Given the description of an element on the screen output the (x, y) to click on. 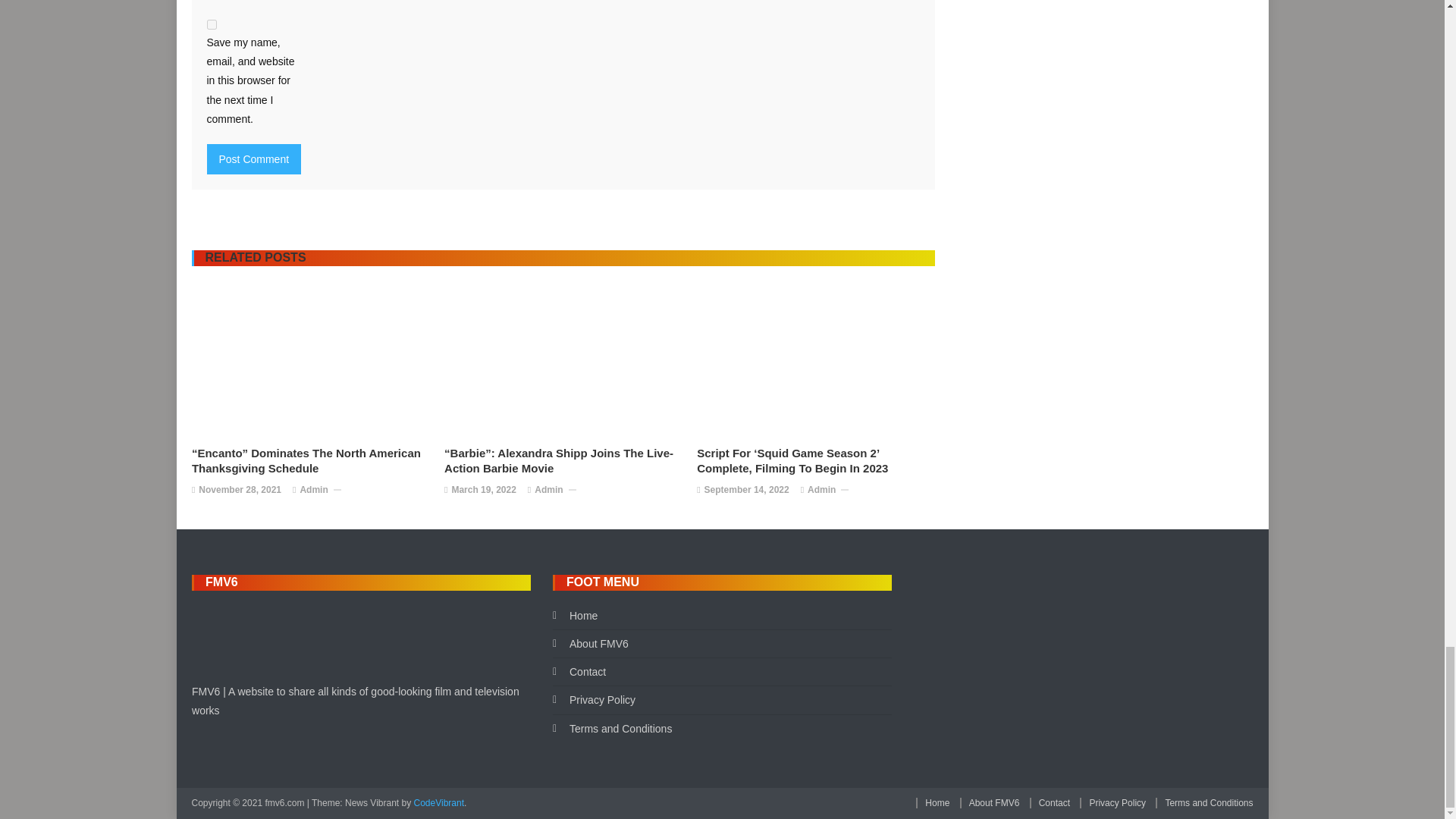
Admin (313, 490)
November 28, 2021 (239, 490)
Admin (548, 490)
Post Comment (253, 159)
yes (210, 24)
March 19, 2022 (483, 490)
Post Comment (253, 159)
